Given the description of an element on the screen output the (x, y) to click on. 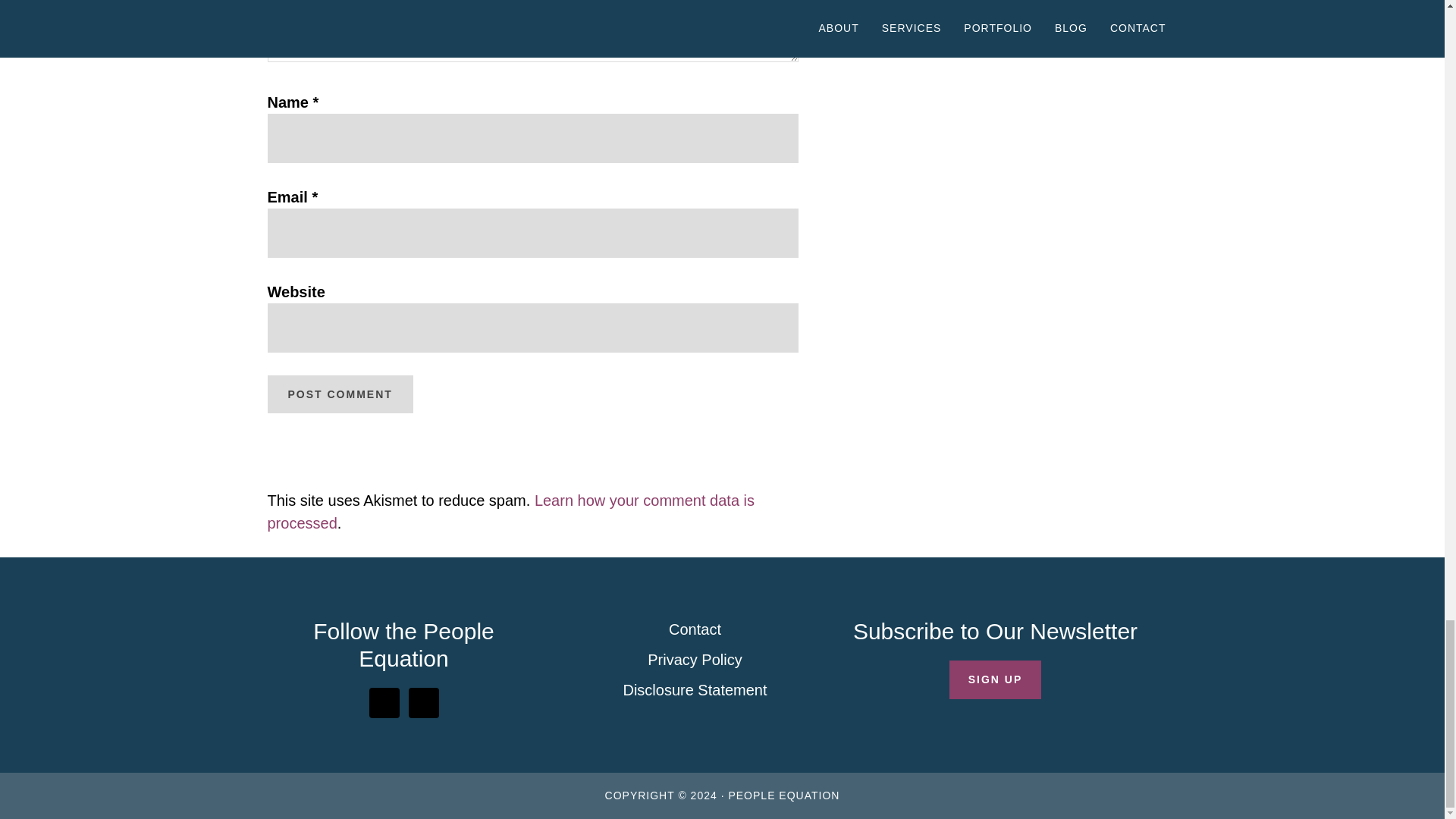
Post Comment (339, 394)
Learn how your comment data is processed (510, 511)
Post Comment (339, 394)
